Given the description of an element on the screen output the (x, y) to click on. 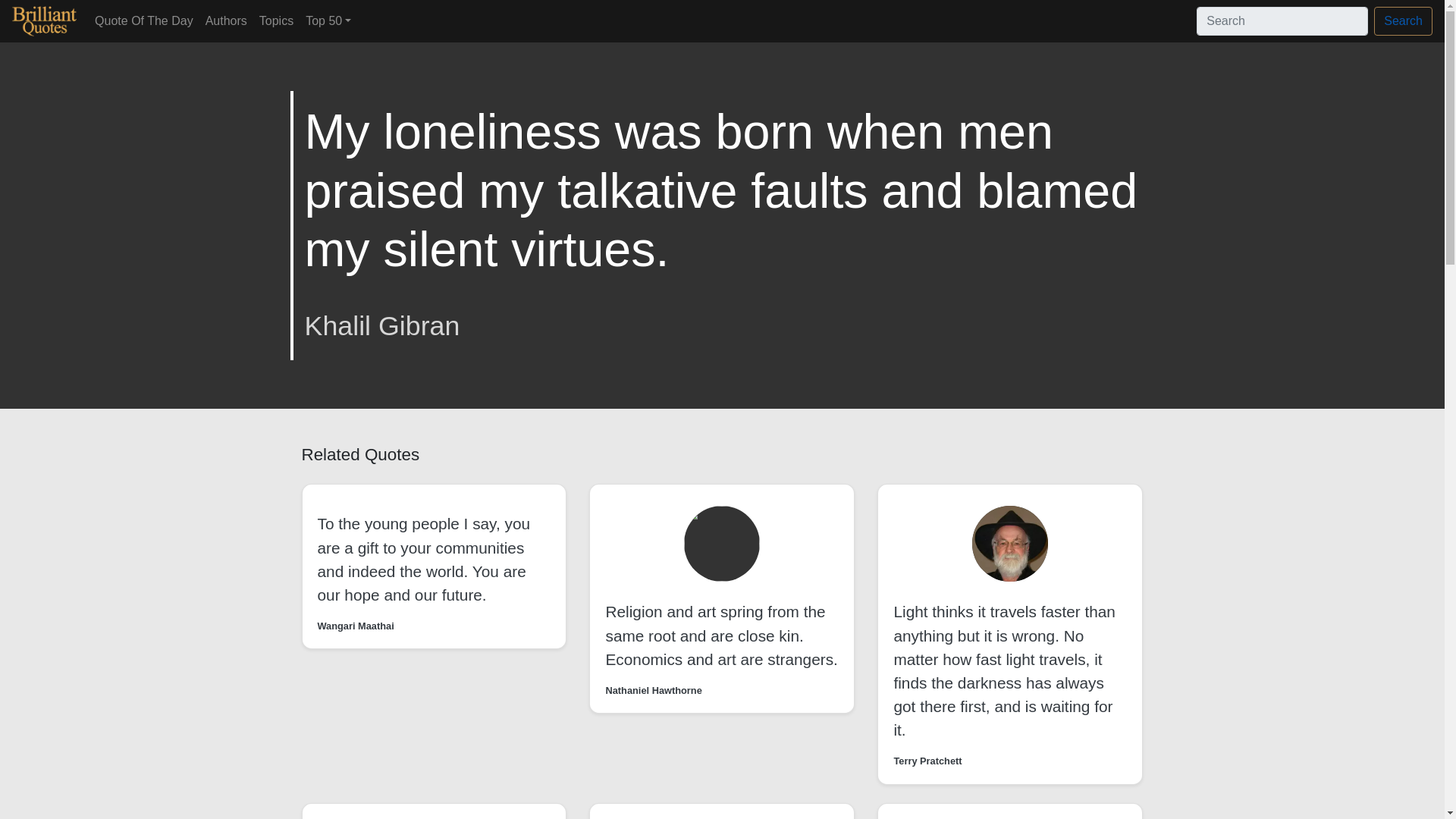
Authors (226, 20)
Quote Of The Day (143, 20)
Top 50 (327, 20)
Terry Pratchett (926, 760)
Topics (276, 20)
Nathaniel Hawthorne (653, 690)
Search (1403, 21)
Wangari Maathai (355, 626)
